Given the description of an element on the screen output the (x, y) to click on. 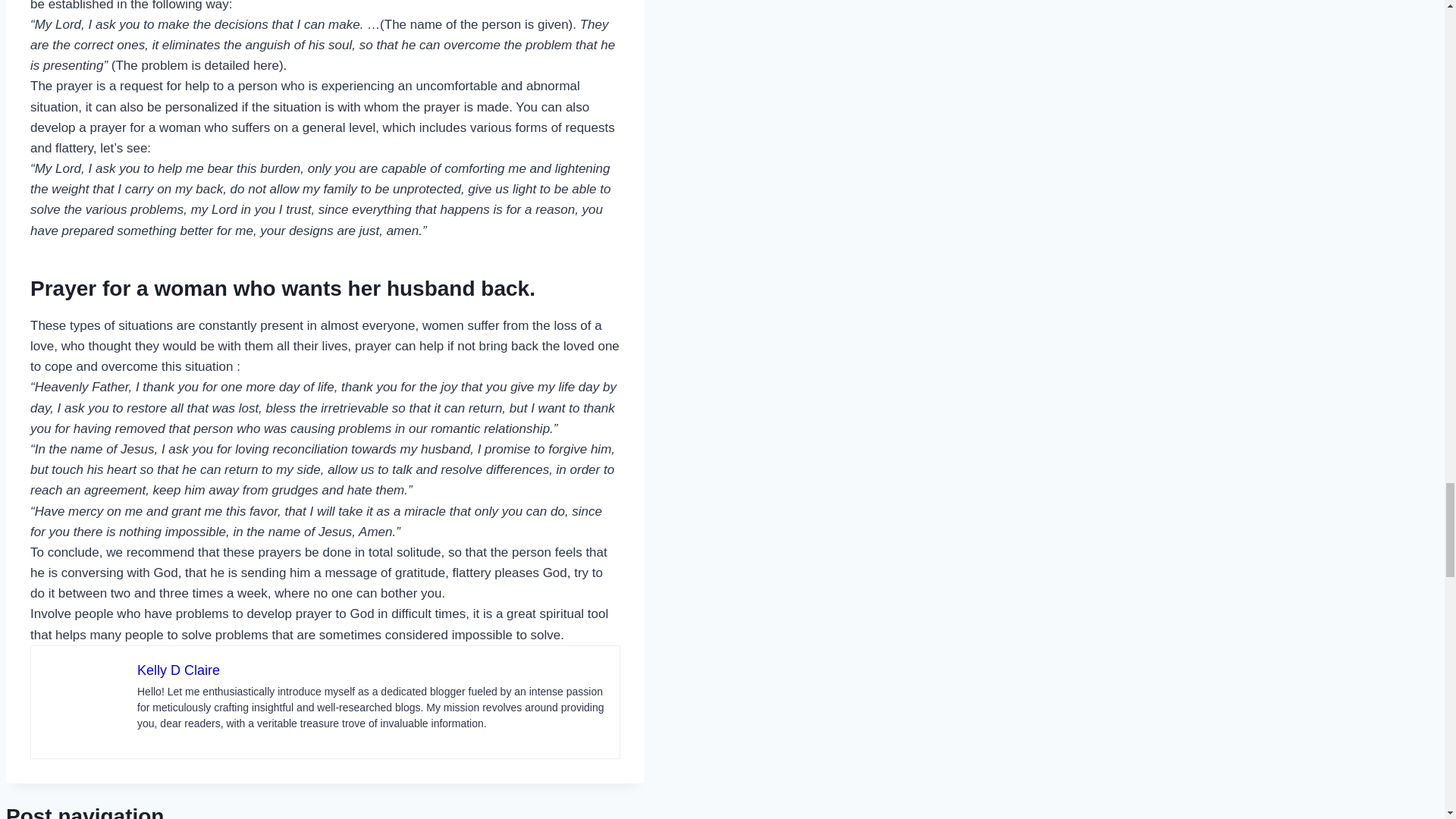
Kelly D Claire (177, 670)
